Given the description of an element on the screen output the (x, y) to click on. 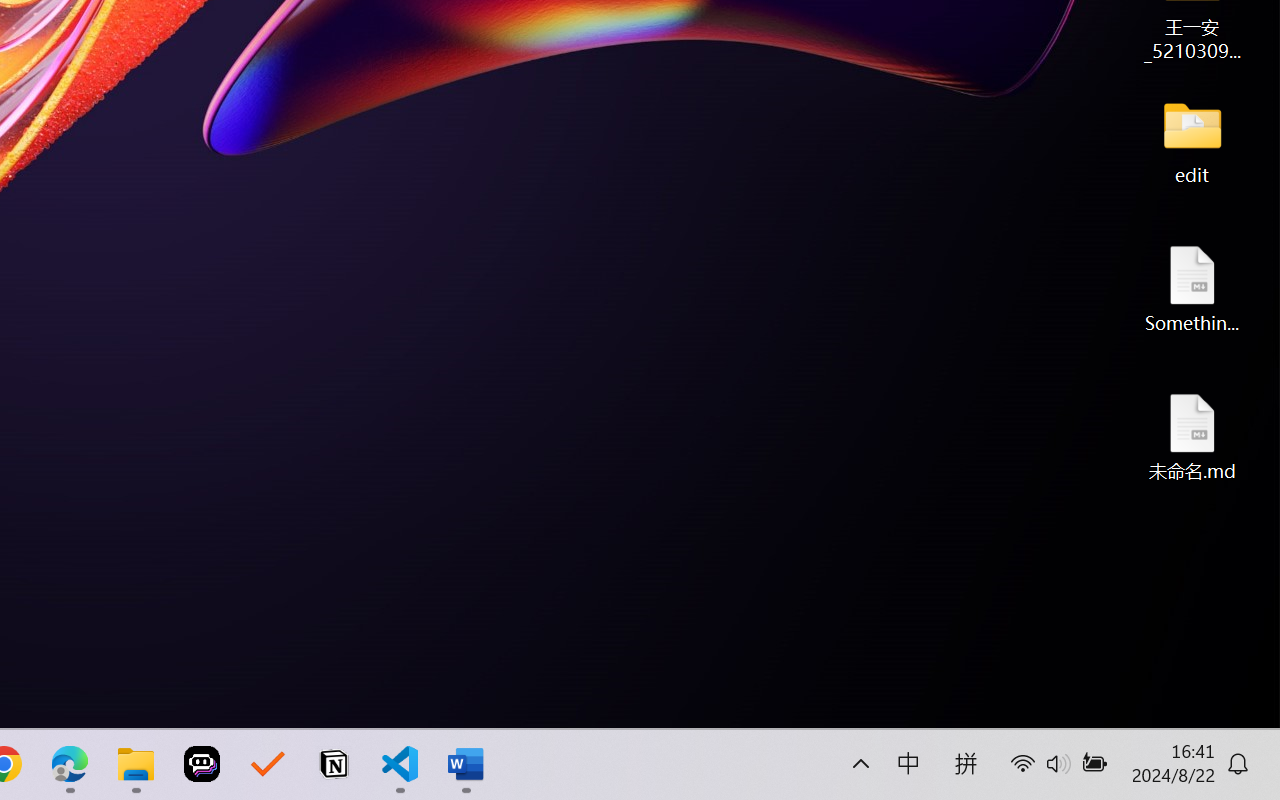
Notion (333, 764)
